Given the description of an element on the screen output the (x, y) to click on. 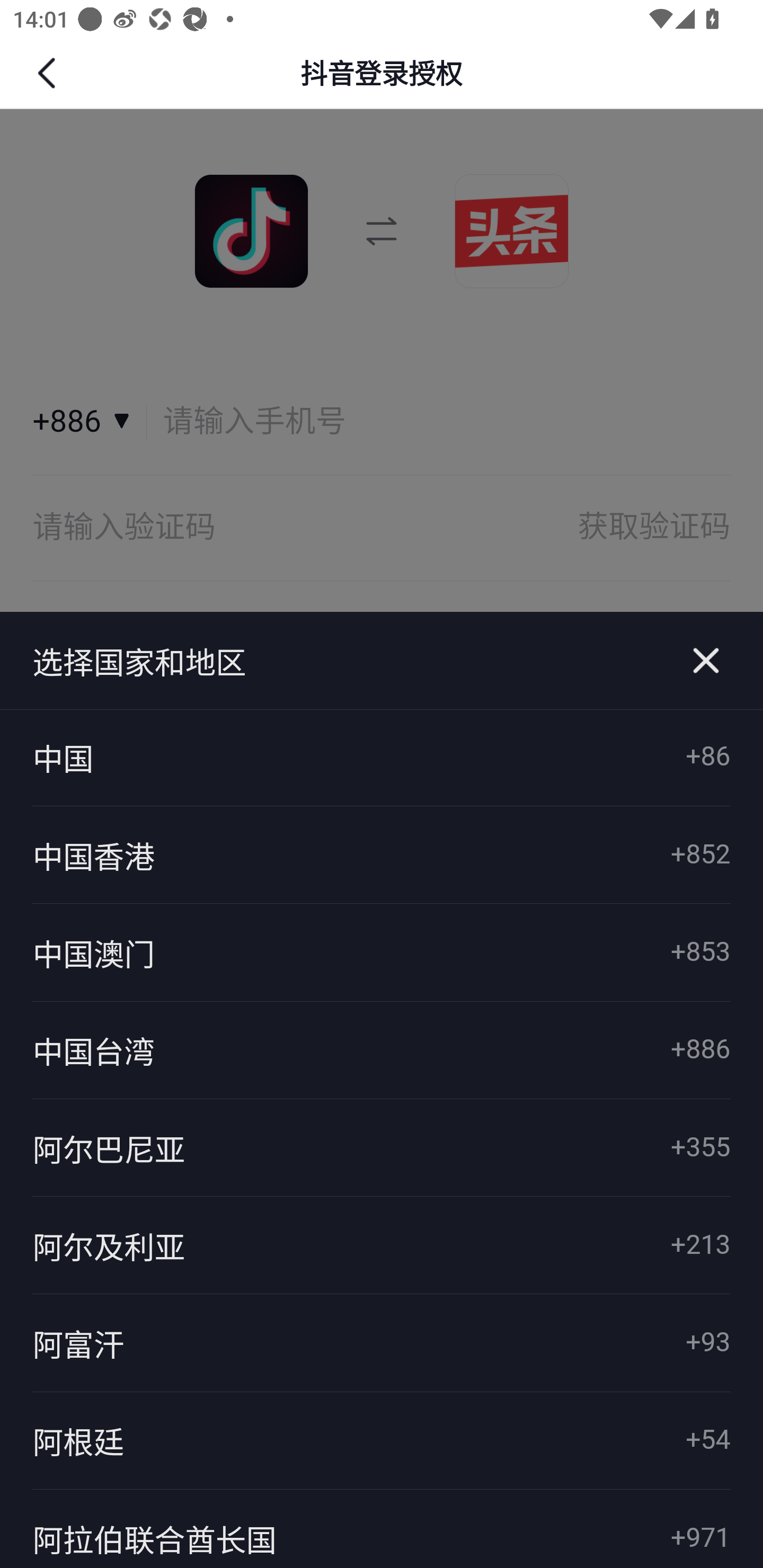
返回 (49, 72)
关闭 (705, 660)
中国+86 (381, 757)
中国香港+852 (381, 854)
中国澳门+853 (381, 952)
中国台湾+886 (381, 1049)
阿尔巴尼亚+355 (381, 1147)
阿尔及利亚+213 (381, 1245)
阿富汗+93 (381, 1343)
阿根廷+54 (381, 1440)
阿拉伯联合酋长国+971 (381, 1528)
